Given the description of an element on the screen output the (x, y) to click on. 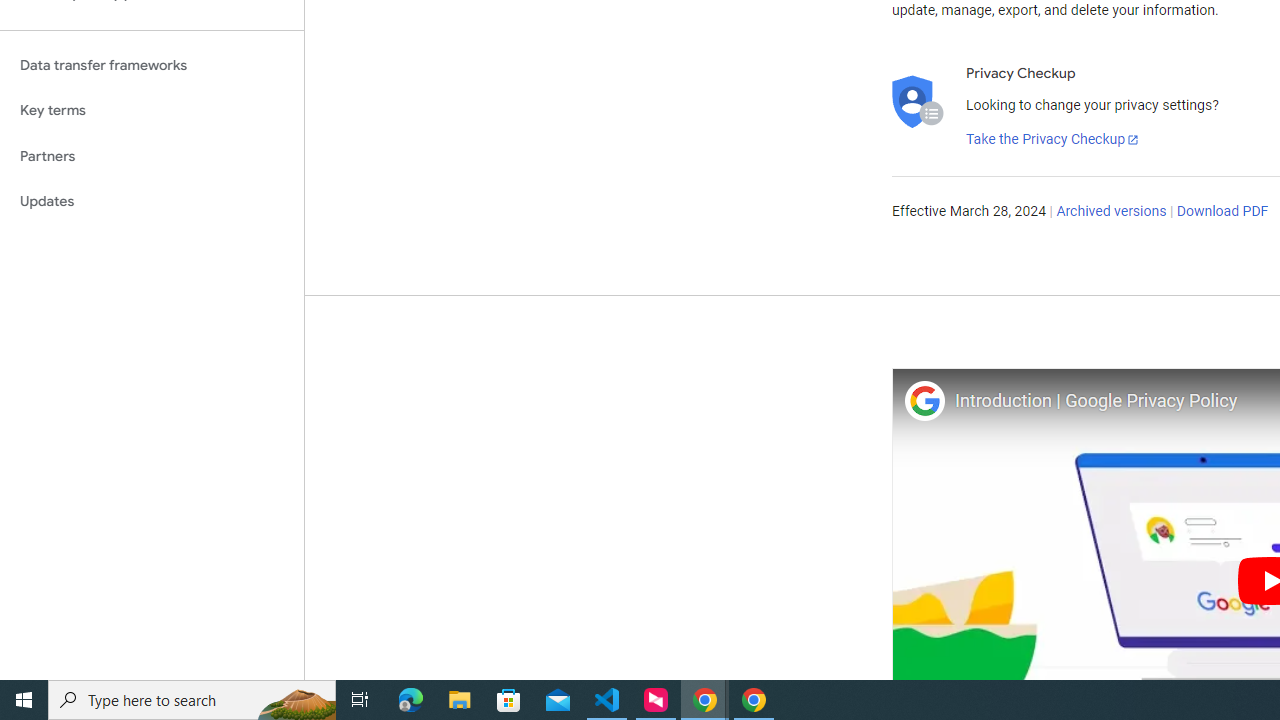
Photo image of Google (924, 400)
Take the Privacy Checkup (1053, 140)
